Given the description of an element on the screen output the (x, y) to click on. 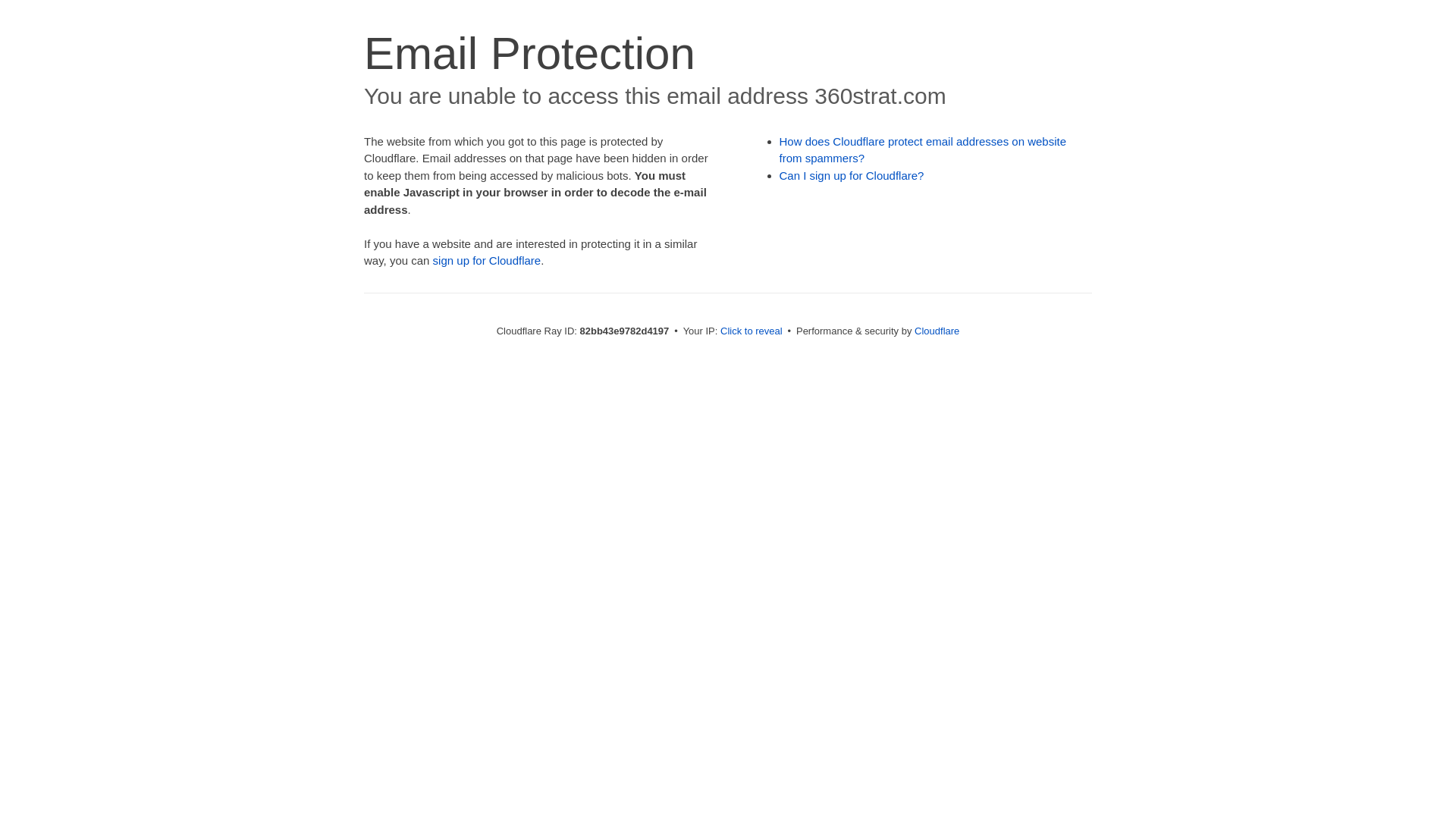
Cloudflare Element type: text (936, 330)
Click to reveal Element type: text (751, 330)
Can I sign up for Cloudflare? Element type: text (851, 175)
sign up for Cloudflare Element type: text (487, 260)
